Given the description of an element on the screen output the (x, y) to click on. 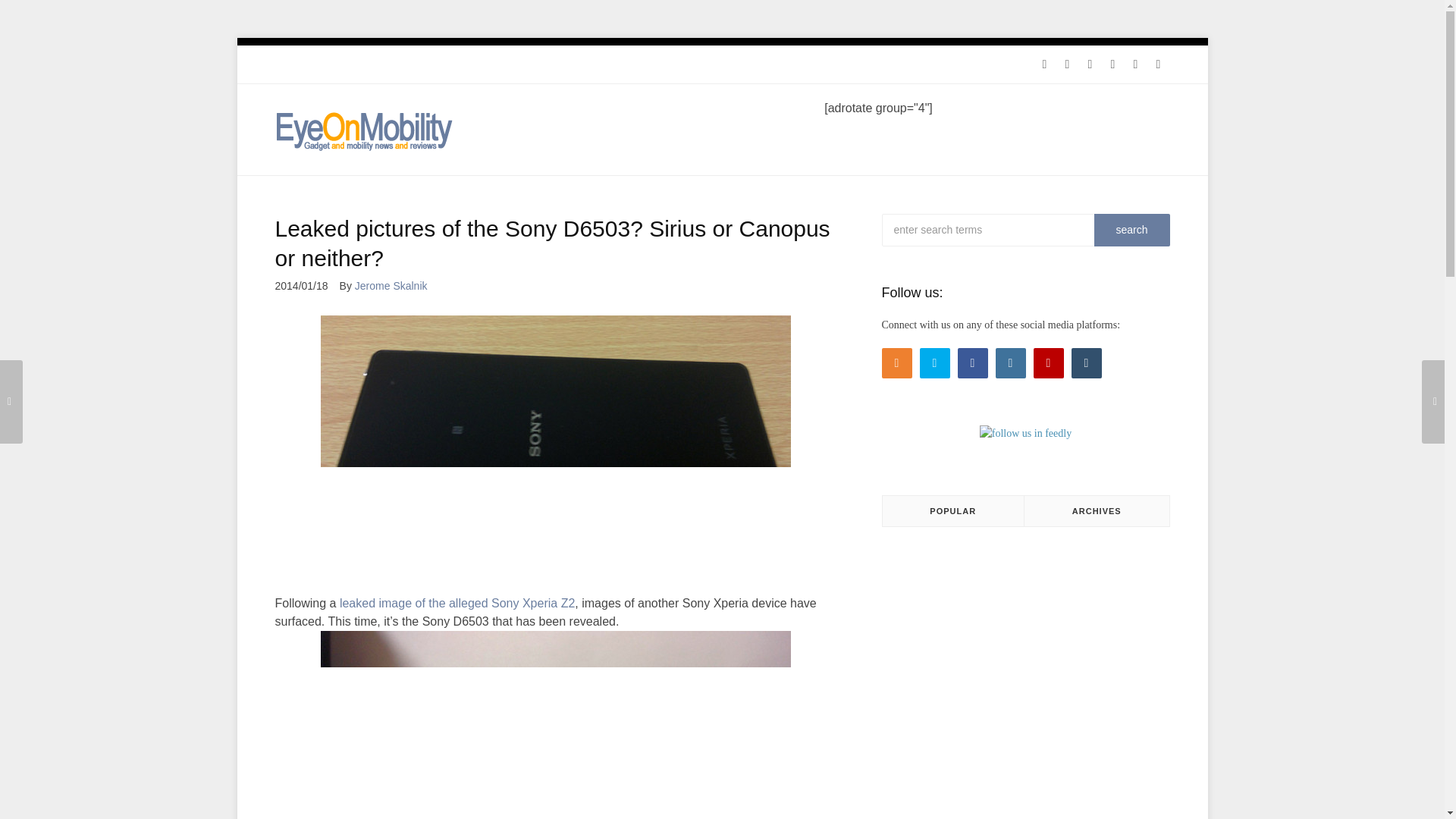
Sony Xperia Z2 details and back cover images leaked? (435, 603)
peria Z2 (553, 603)
Tumblr (1158, 64)
Reviews (346, 64)
RSS Feed (1043, 64)
leaked image of the alleged Sony X (435, 603)
View all posts by Jerome Skalnik (397, 285)
Twitter (1066, 64)
Instagram (1112, 64)
Sony Xperia Z2 details and back cover images leaked? (553, 603)
POPULAR (953, 511)
Search (1131, 229)
Youtube (1135, 64)
Home (296, 64)
EyeOnMobility (363, 129)
